Given the description of an element on the screen output the (x, y) to click on. 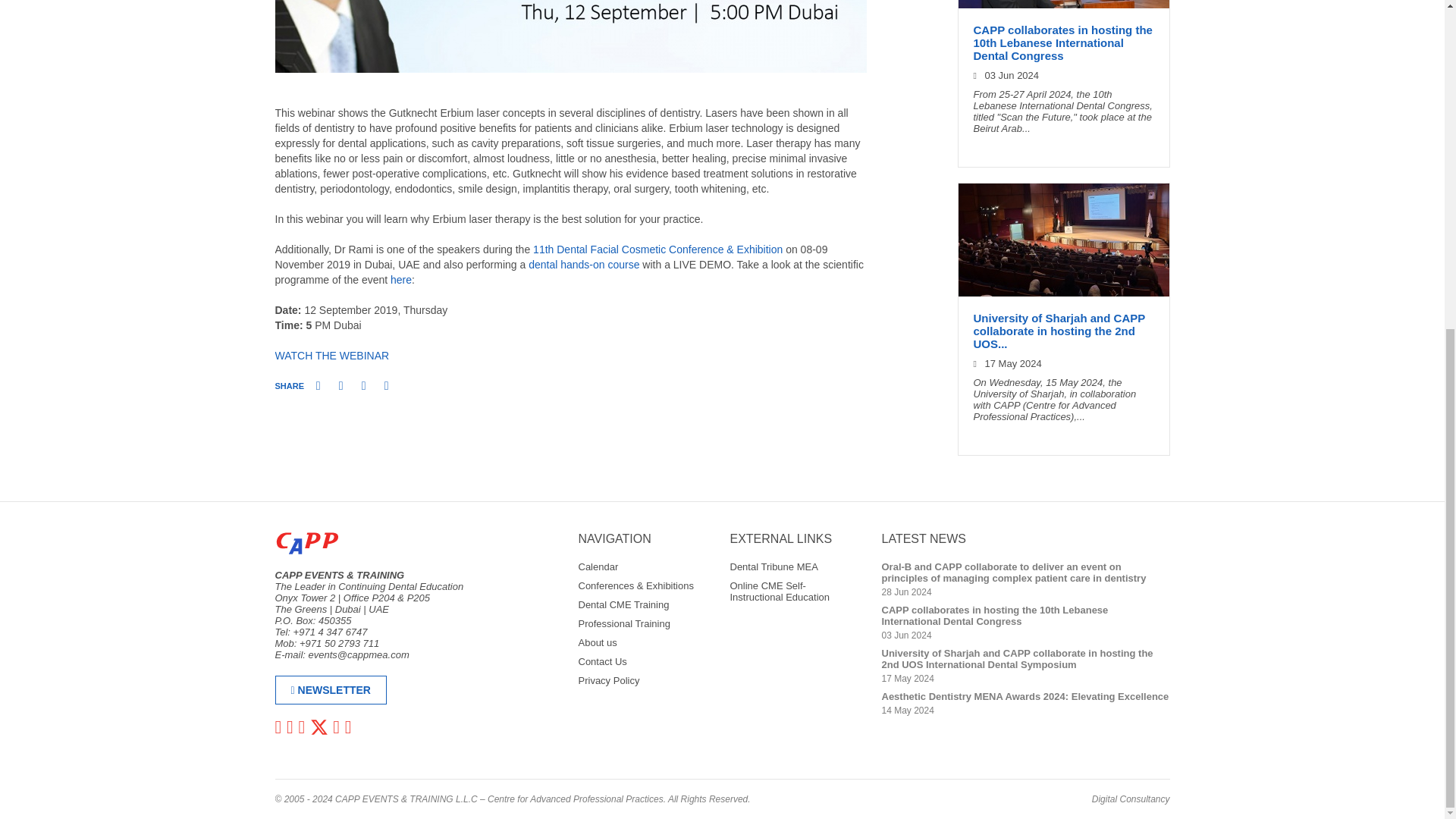
Digital Strategy, Web Design and Development (1131, 798)
